Given the description of an element on the screen output the (x, y) to click on. 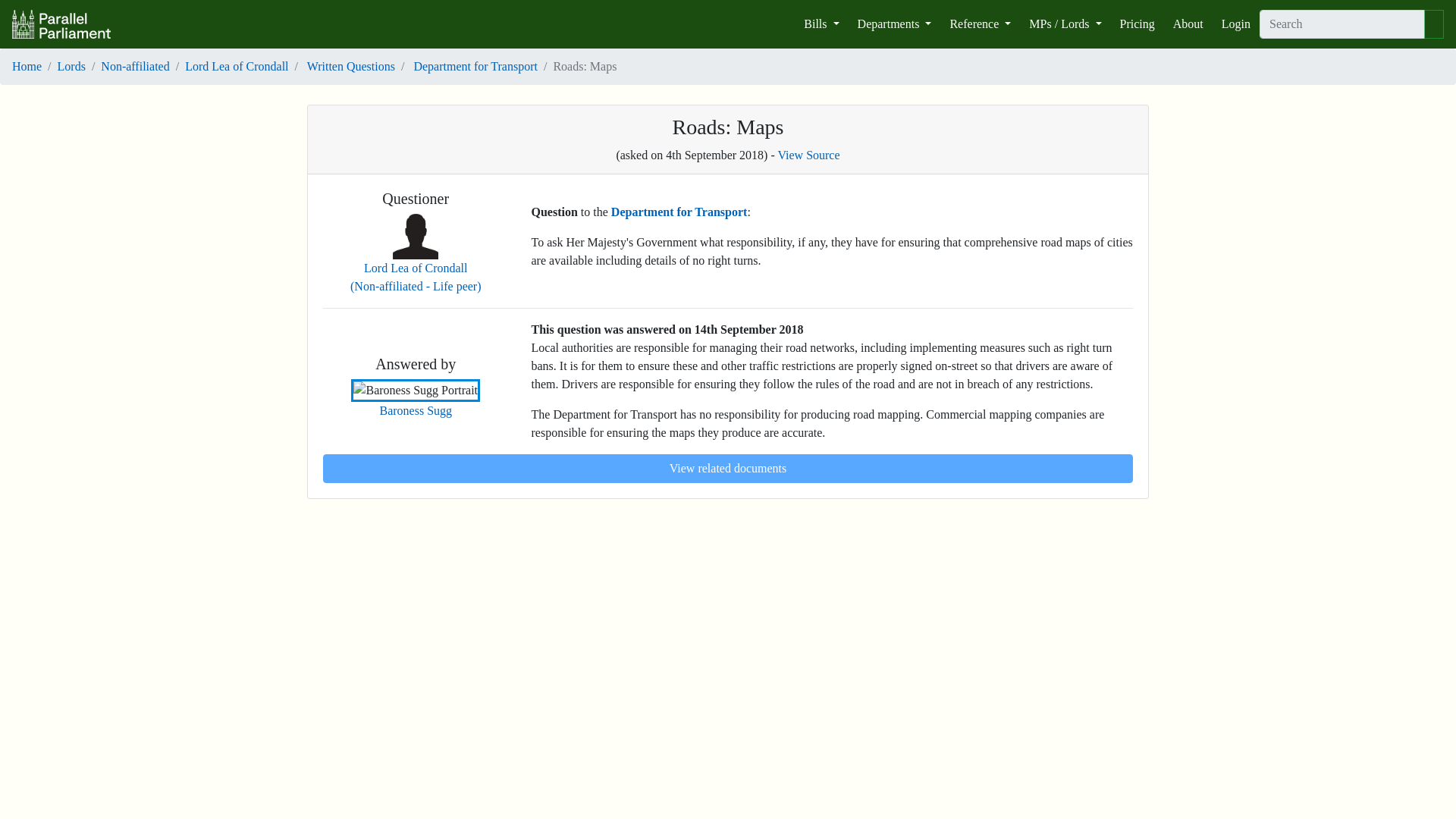
Departments (894, 24)
Bills (820, 24)
Reference (979, 24)
